Given the description of an element on the screen output the (x, y) to click on. 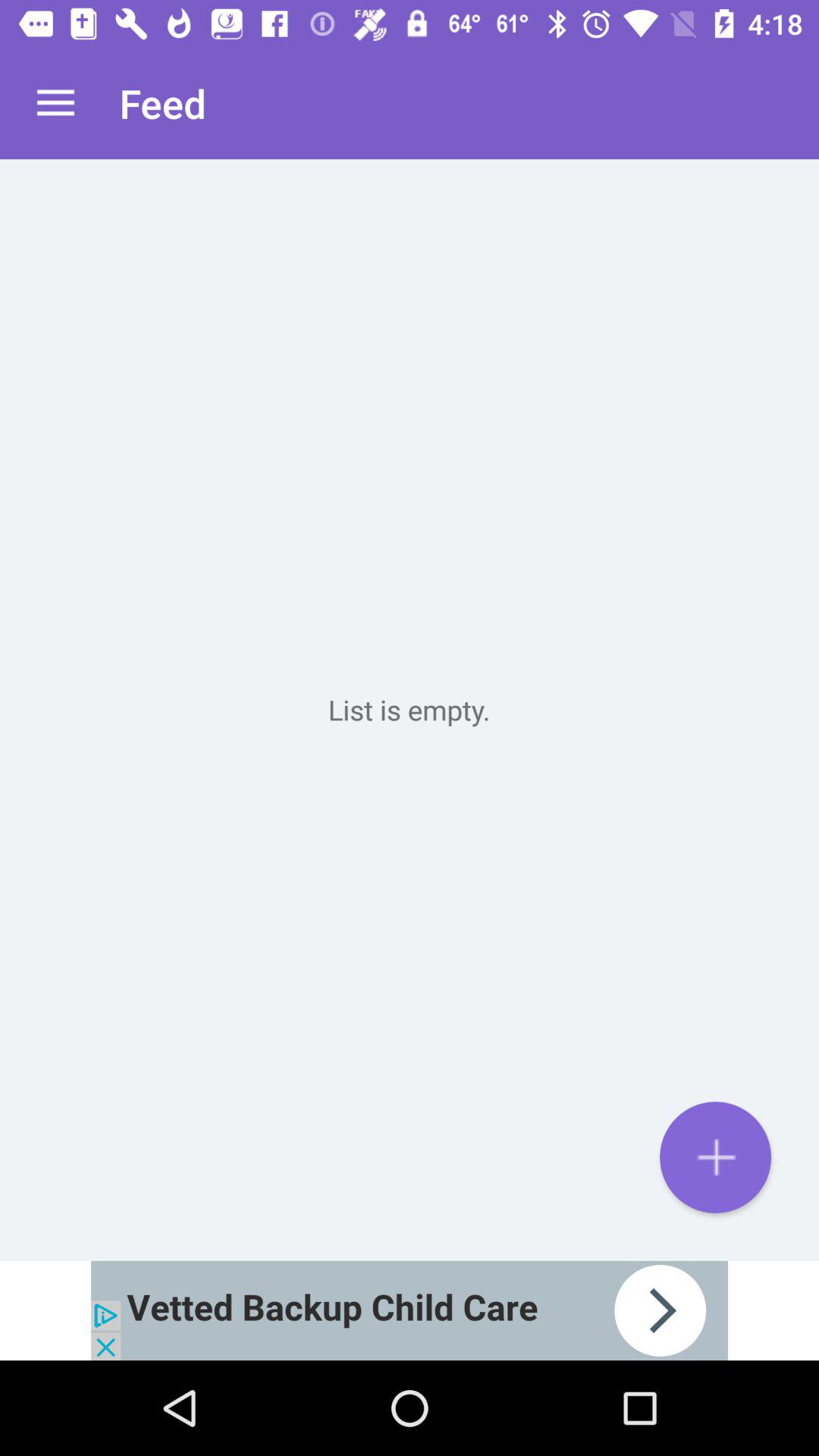
add text (715, 1157)
